Given the description of an element on the screen output the (x, y) to click on. 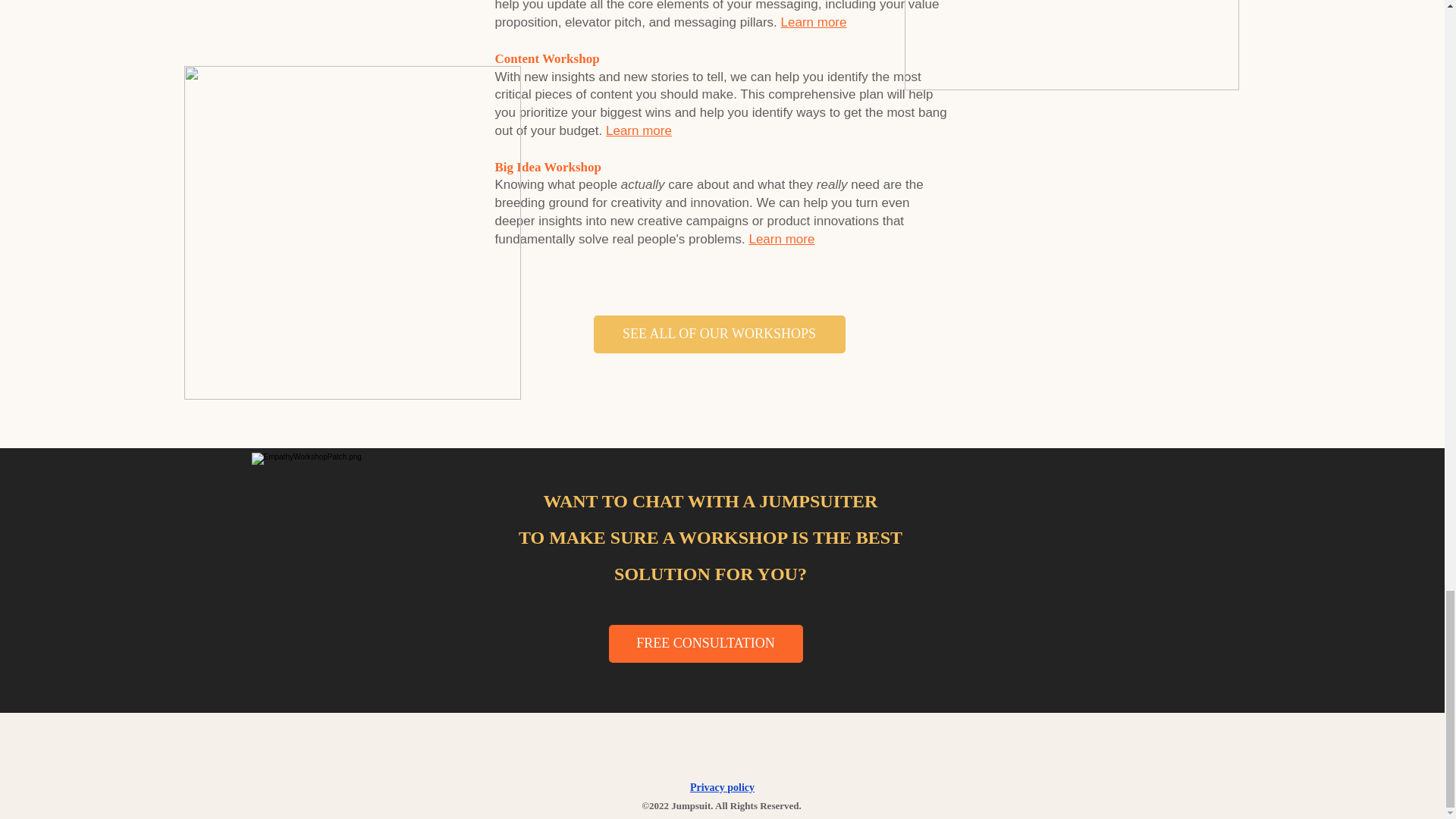
Privacy policy (722, 787)
Group 16 copy.png (1071, 45)
SEE ALL OF OUR WORKSHOPS (718, 333)
Group 15 copy.png (351, 232)
Learn more (780, 238)
Learn more (813, 22)
Learn more (638, 130)
FREE CONSULTATION (705, 643)
